Given the description of an element on the screen output the (x, y) to click on. 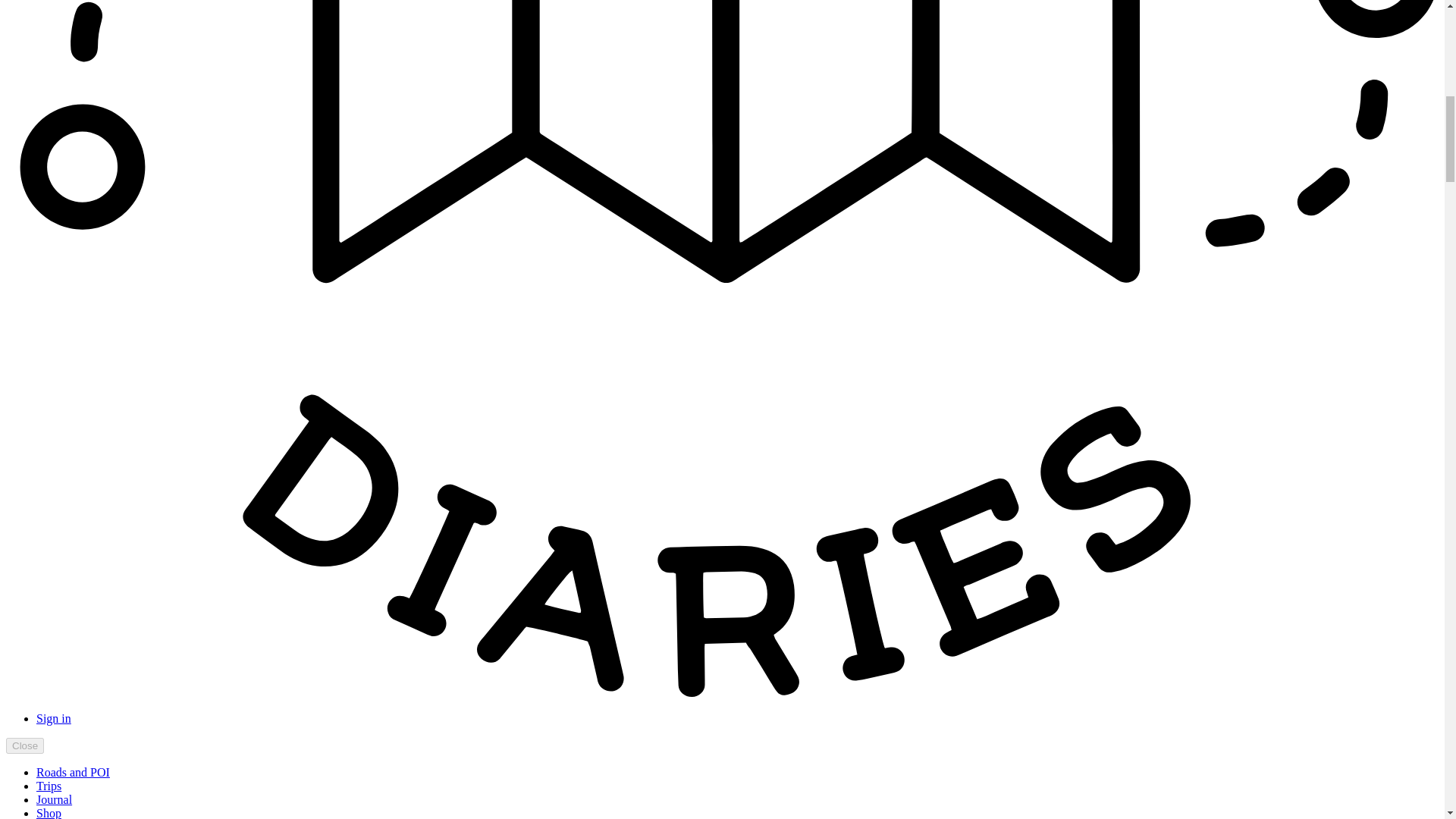
Roads and POI (73, 771)
Trips (48, 785)
Shop (48, 812)
Close (24, 745)
Sign in (53, 717)
Journal (53, 799)
